Given the description of an element on the screen output the (x, y) to click on. 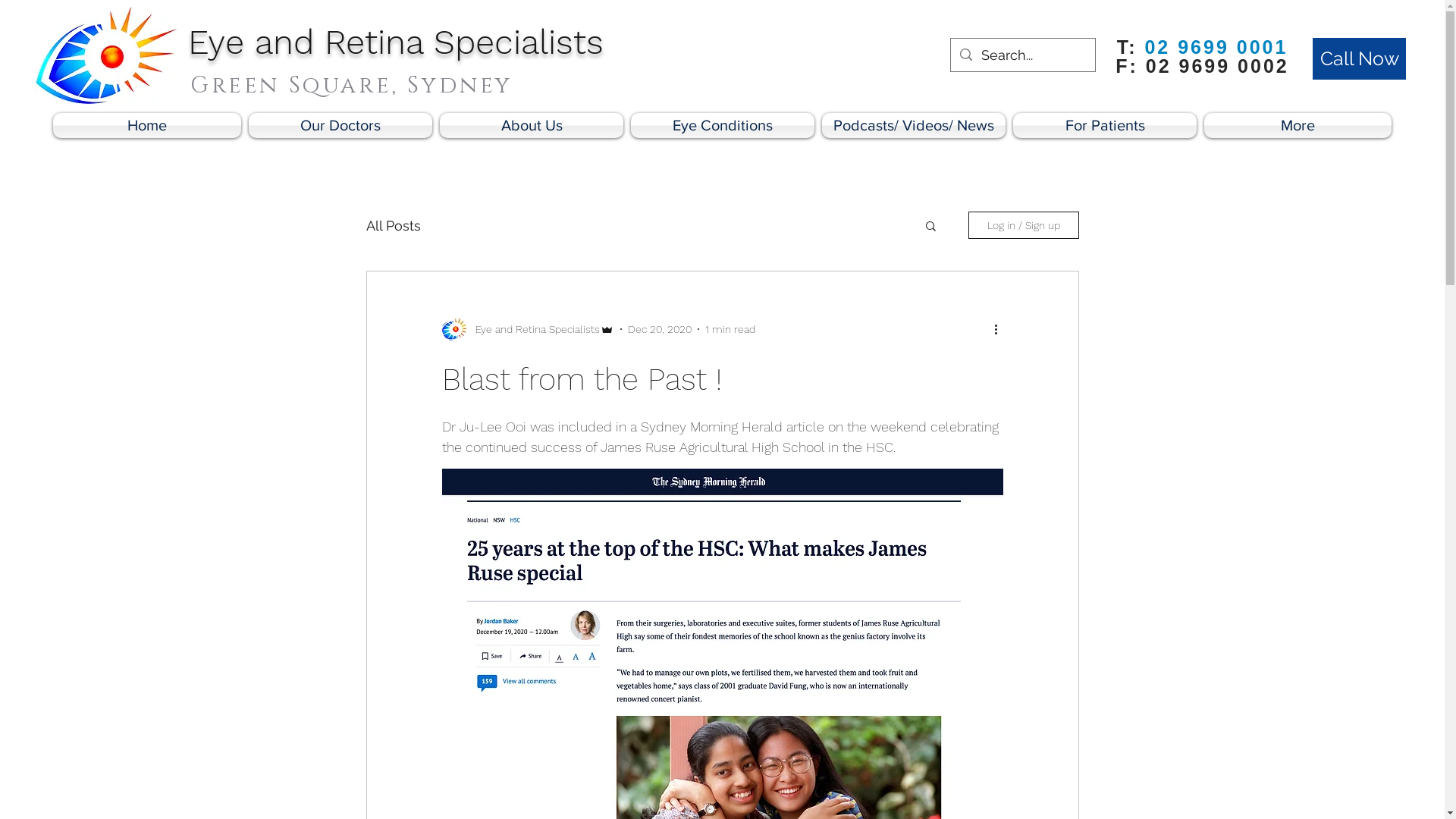
Home Element type: text (148, 125)
For Patients Element type: text (1104, 125)
Podcasts/ Videos/ News Element type: text (913, 125)
All Posts Element type: text (392, 225)
Eye and Retina Specialists Element type: text (395, 41)
Eye Conditions Element type: text (722, 125)
Our Doctors Element type: text (340, 125)
Log in / Sign up Element type: text (1022, 224)
About Us Element type: text (531, 125)
Call Now Element type: text (1358, 58)
02 9699 0001 Element type: text (1215, 46)
